Given the description of an element on the screen output the (x, y) to click on. 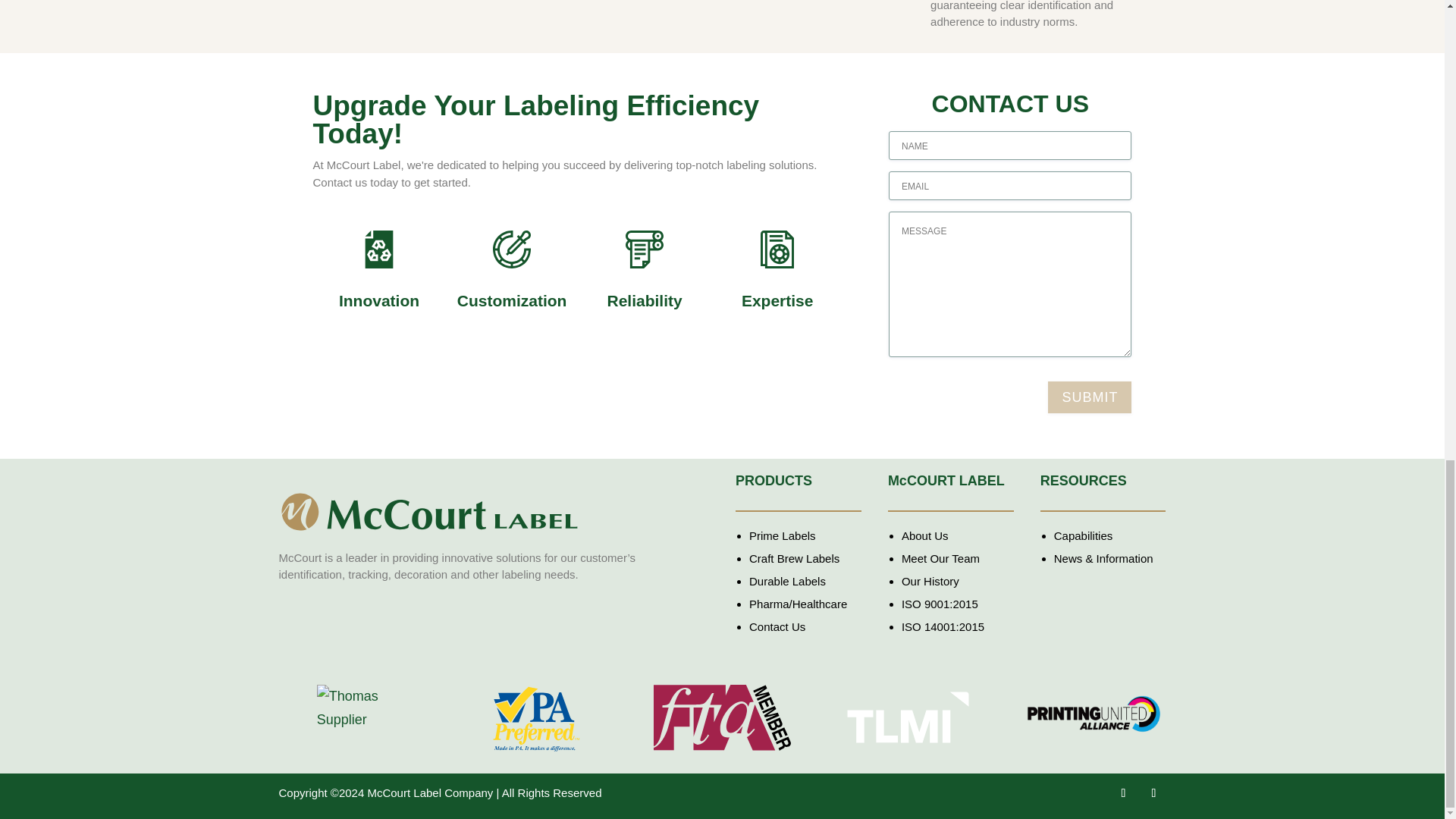
PA-Preferred (536, 718)
Follow on Facebook (1122, 793)
Follow on LinkedIn (1153, 793)
FTA-Member (721, 717)
Submit (1089, 396)
